Given the description of an element on the screen output the (x, y) to click on. 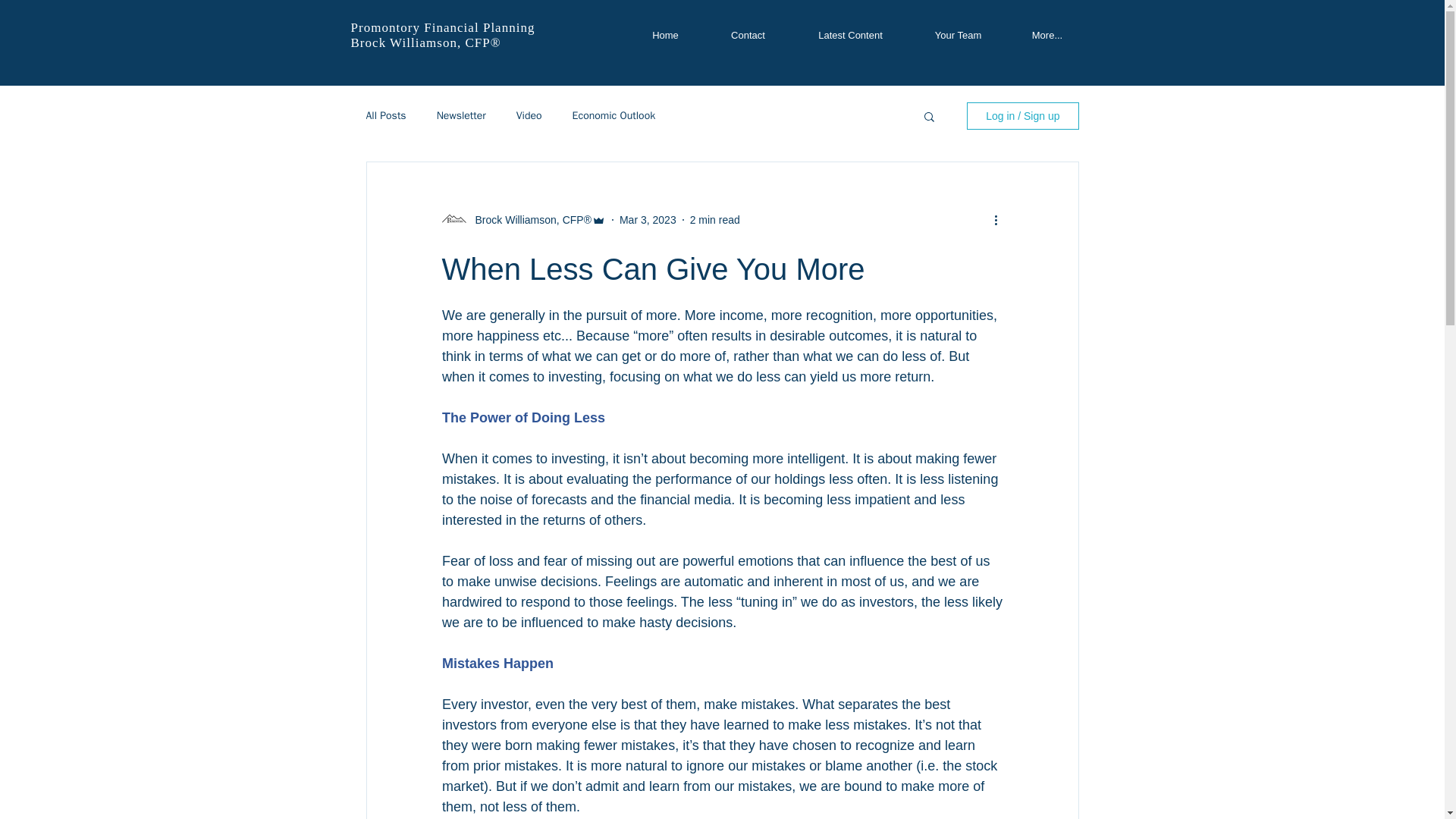
Mar 3, 2023 (648, 219)
Contact (748, 35)
Latest Content (851, 35)
Promontory Financial Planning (442, 27)
Economic Outlook (614, 115)
Newsletter (461, 115)
Video (528, 115)
2 min read (714, 219)
All Posts (385, 115)
Home (665, 35)
Your Team (958, 35)
